Given the description of an element on the screen output the (x, y) to click on. 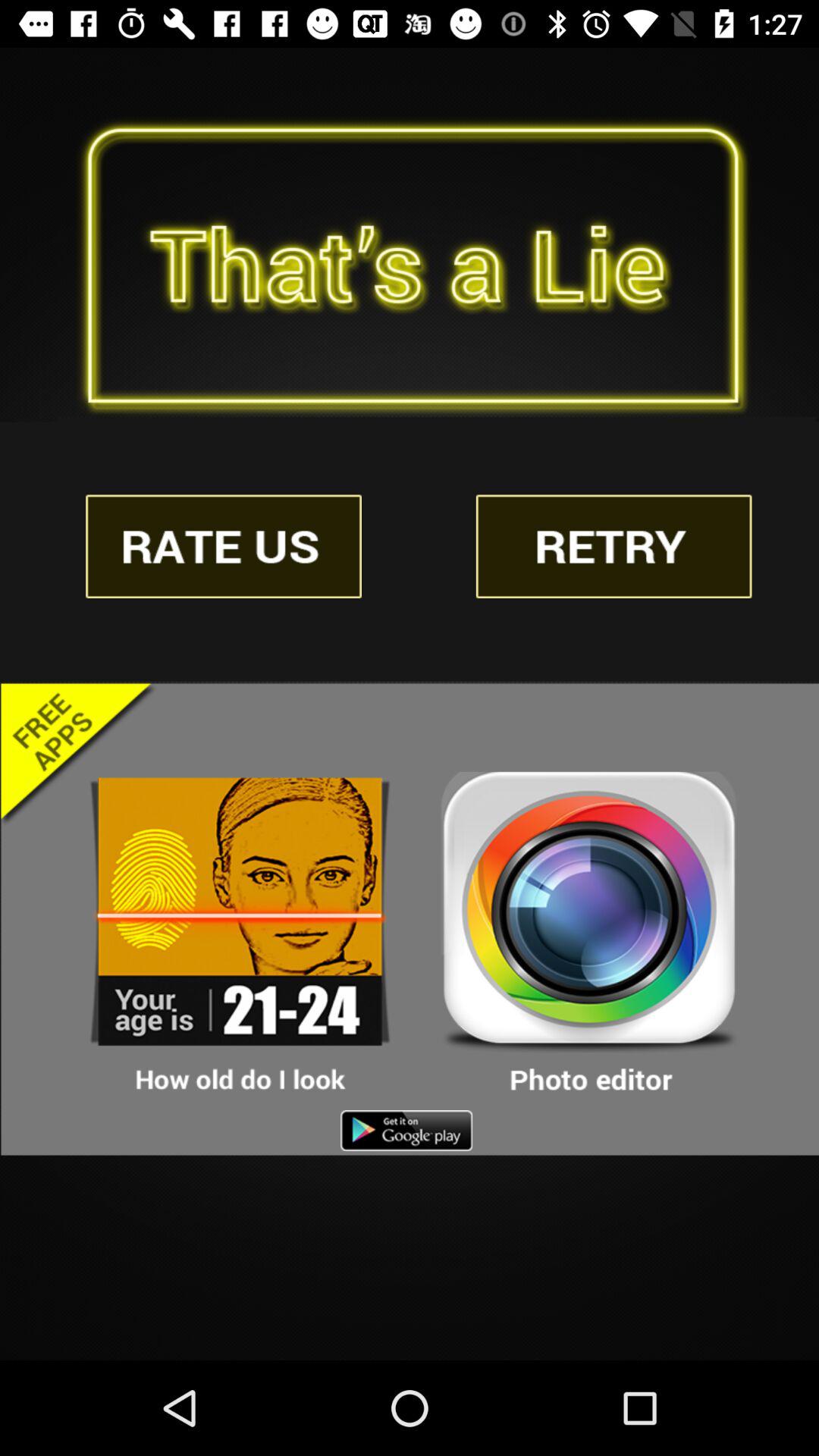
open photo editor (589, 933)
